Given the description of an element on the screen output the (x, y) to click on. 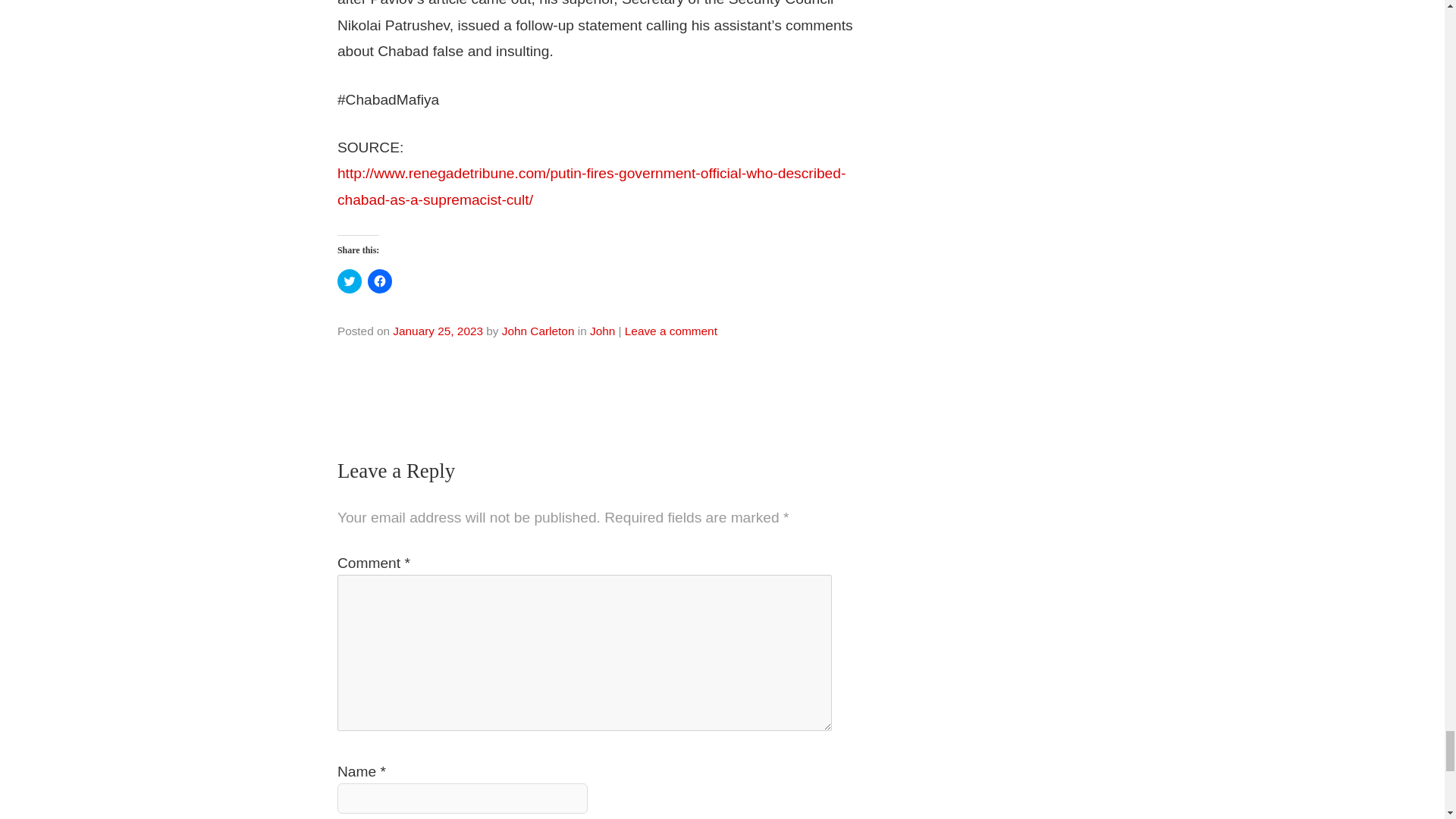
January 25, 2023 (438, 330)
3:10 pm (438, 330)
Click to share on Twitter (349, 281)
Leave a comment (670, 330)
View all posts by John Carleton (538, 330)
Click to share on Facebook (379, 281)
John (601, 330)
John Carleton (538, 330)
